Given the description of an element on the screen output the (x, y) to click on. 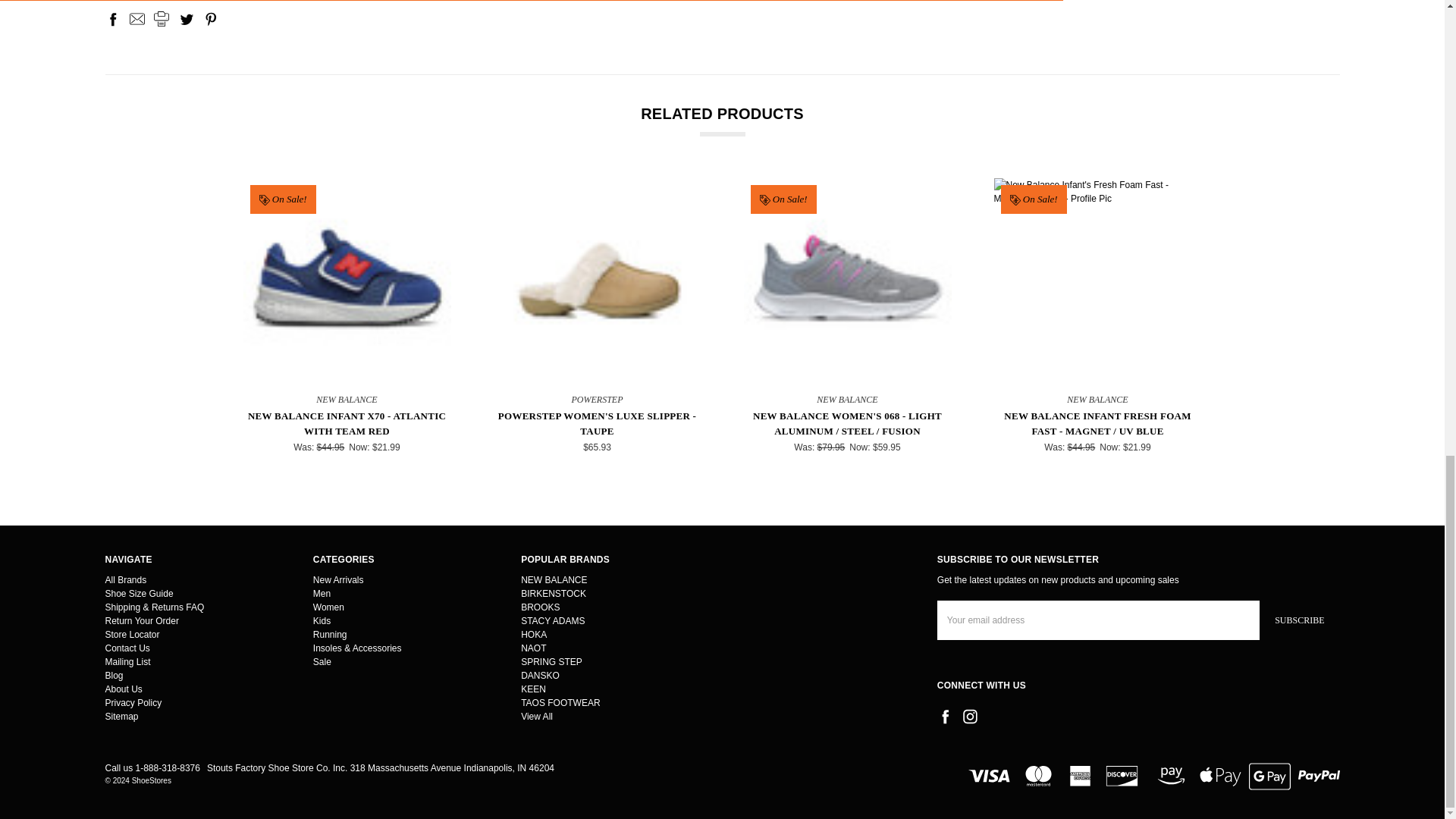
New Balance Infant x70 - Atlantic with Team Red - Profile (346, 281)
Facebook Recommended (217, 44)
Print (161, 18)
Subscribe (1299, 619)
Facebook (111, 18)
Email (136, 18)
Pinterest (210, 18)
Twitter (186, 18)
